Given the description of an element on the screen output the (x, y) to click on. 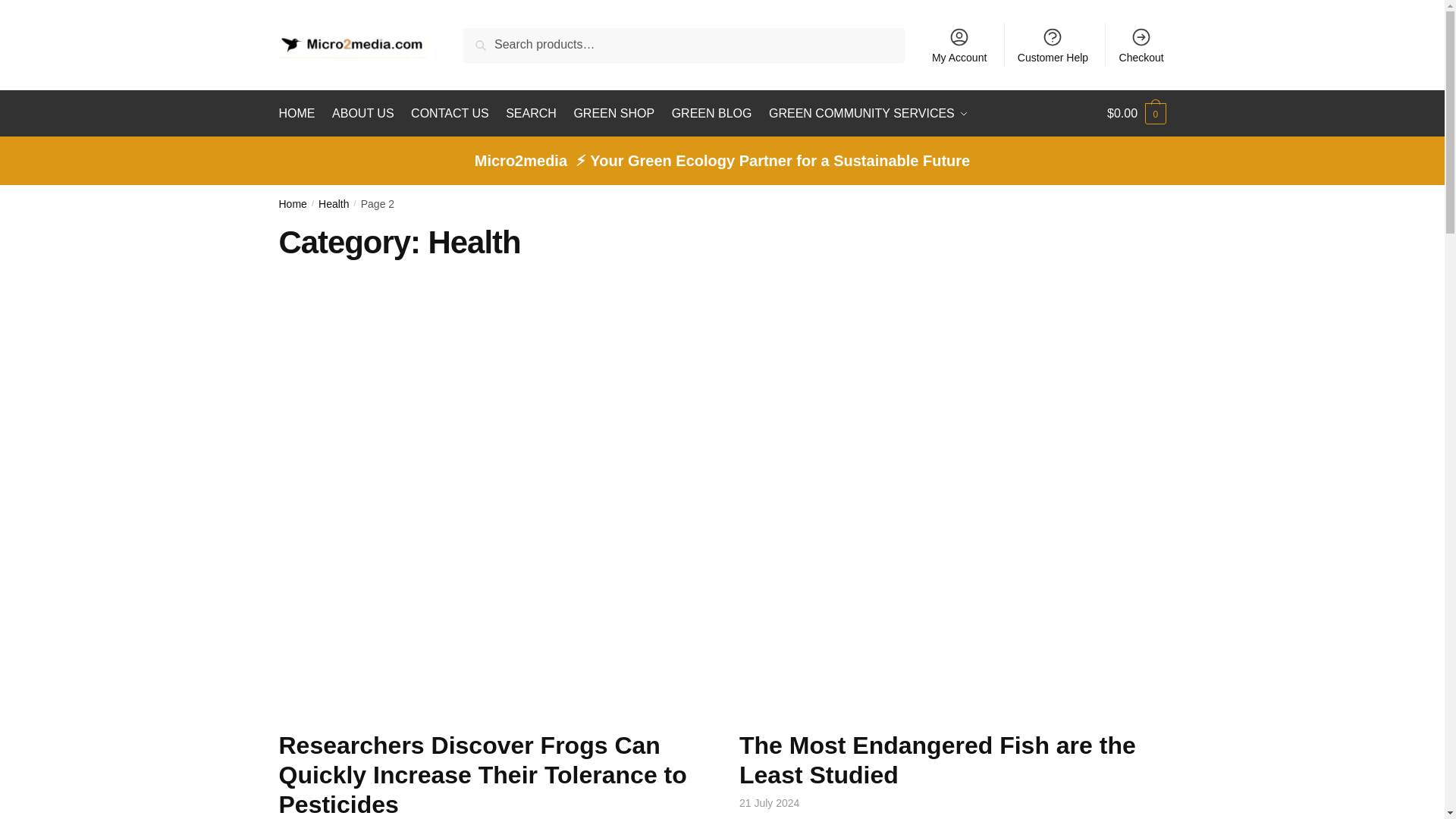
Home (293, 203)
GREEN COMMUNITY SERVICES (867, 113)
My Account (959, 44)
HOME (300, 113)
CONTACT US (449, 113)
ABOUT US (362, 113)
Checkout (1141, 44)
Health (333, 203)
SEARCH (530, 113)
Customer Help (1053, 44)
The Most Endangered Fish are the Least Studied (937, 760)
View your shopping cart (1136, 113)
Search (487, 38)
GREEN SHOP (614, 113)
